Given the description of an element on the screen output the (x, y) to click on. 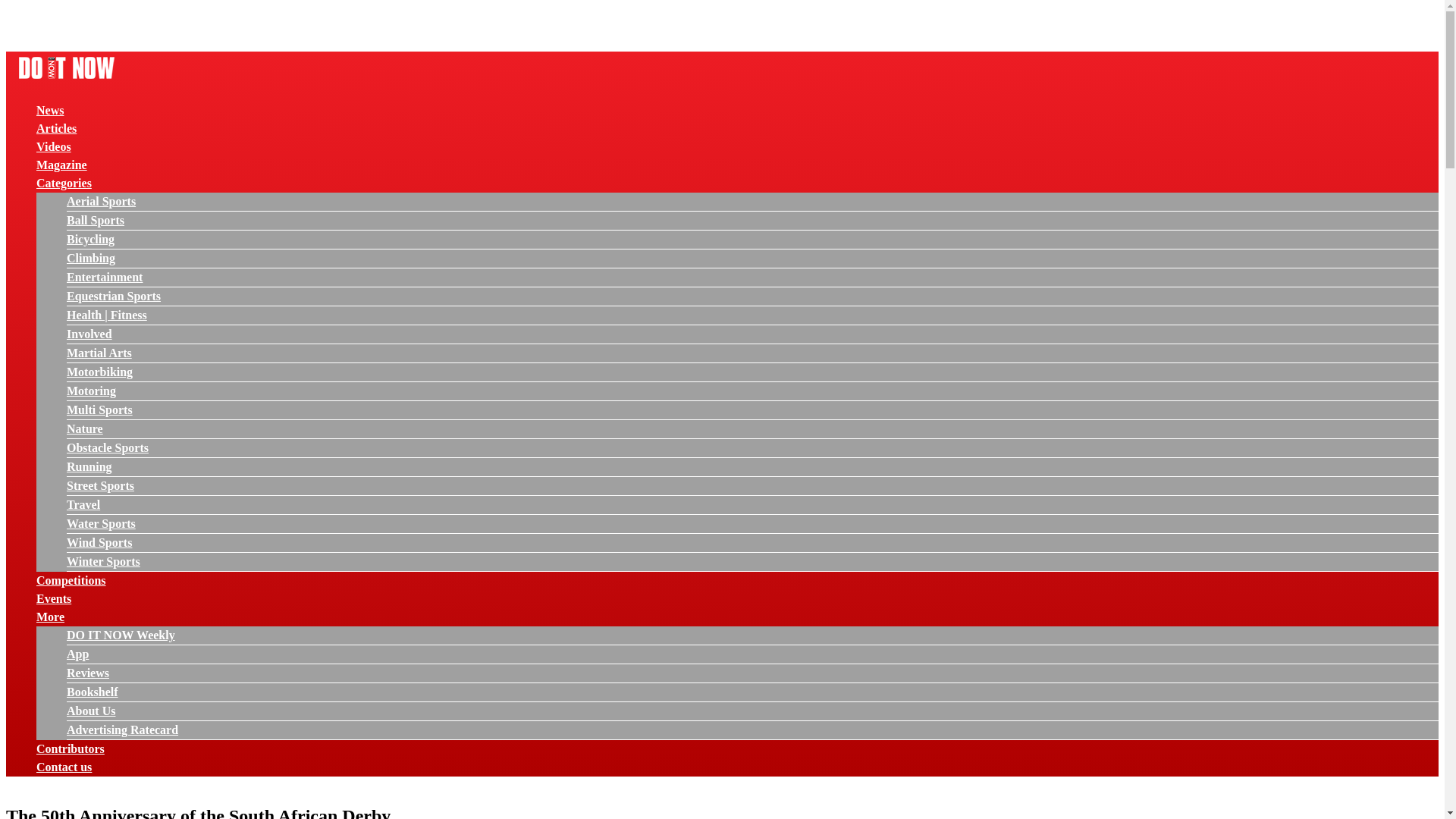
About Us (90, 710)
DO IT NOW Weekly (120, 634)
Ball Sports (94, 219)
Contact us (63, 766)
Advertising Ratecard (121, 729)
Magazine (61, 164)
App (77, 653)
Entertainment (104, 277)
Categories (63, 182)
Competitions (71, 580)
Aerial Sports (100, 201)
Winter Sports (102, 561)
Nature (84, 428)
Wind Sports (99, 542)
Home (66, 79)
